Given the description of an element on the screen output the (x, y) to click on. 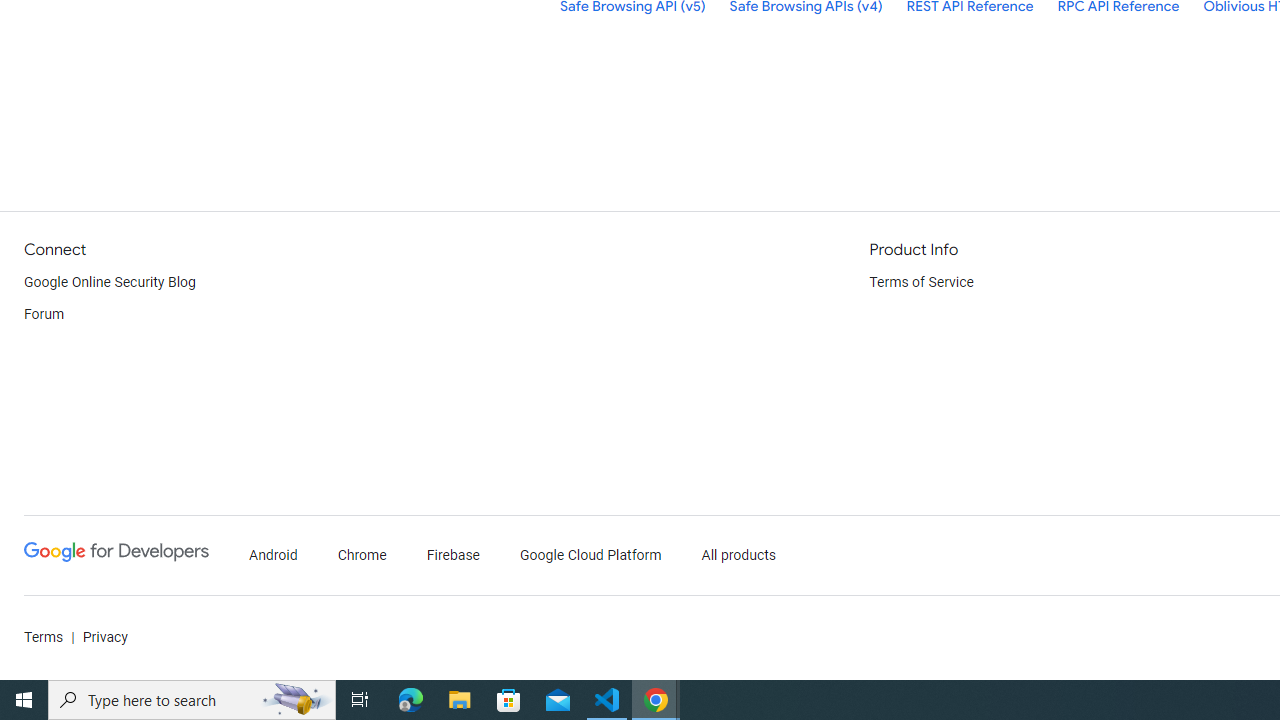
Google Online Security Blog (109, 282)
Android (273, 555)
All products (738, 555)
Google Cloud Platform (590, 555)
Firebase (453, 555)
Forum (44, 314)
Google Developers (116, 551)
Google Developers (116, 555)
Privacy (104, 637)
